Given the description of an element on the screen output the (x, y) to click on. 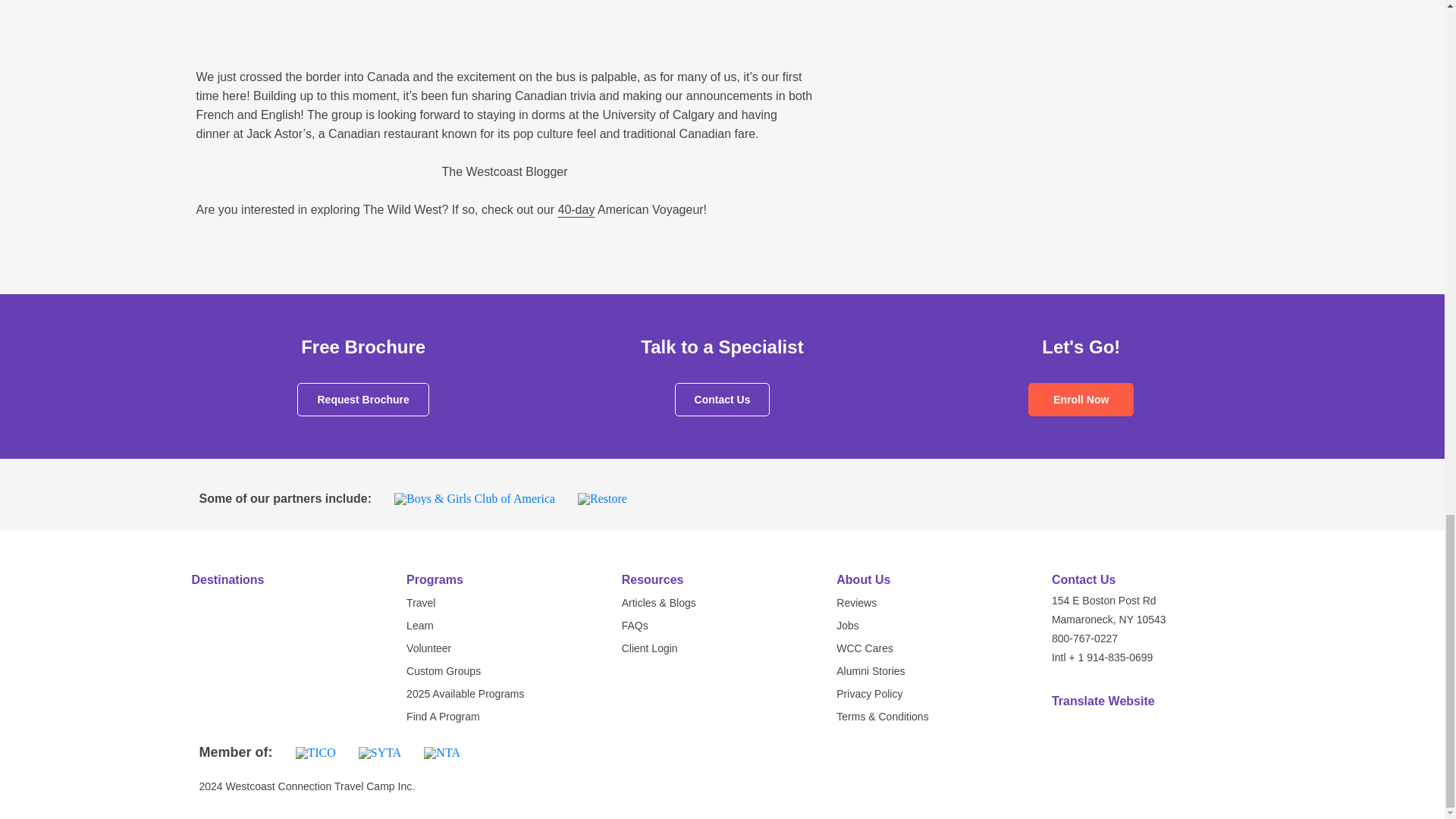
Request Brochure (362, 399)
Travel (420, 603)
Visit our partner Restore (602, 499)
View all Destinations (284, 579)
Contact Us (722, 399)
Enroll Now (1080, 399)
Programs (434, 579)
Learn (419, 625)
